Given the description of an element on the screen output the (x, y) to click on. 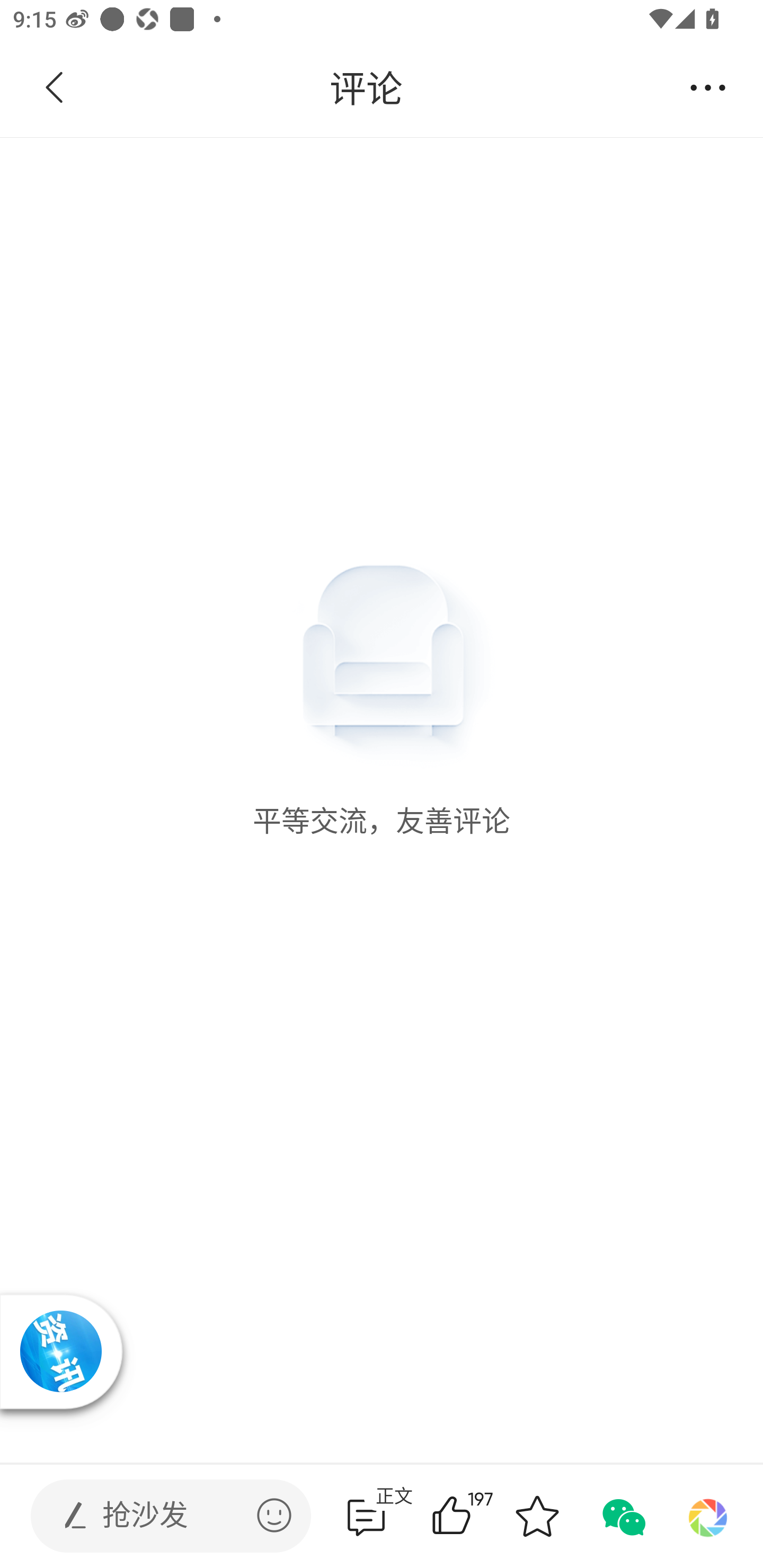
评论 (365, 87)
分享  (707, 87)
 返回 (54, 87)
平等交流，友善评论 (381, 487)
播放器 (60, 1351)
发表评论  抢沙发 发表评论  (155, 1516)
抢评论  抢 评论 (365, 1516)
197赞 (476, 1516)
收藏  (536, 1516)
分享到微信  (622, 1516)
分享到朋友圈 (707, 1516)
 (274, 1515)
